Given the description of an element on the screen output the (x, y) to click on. 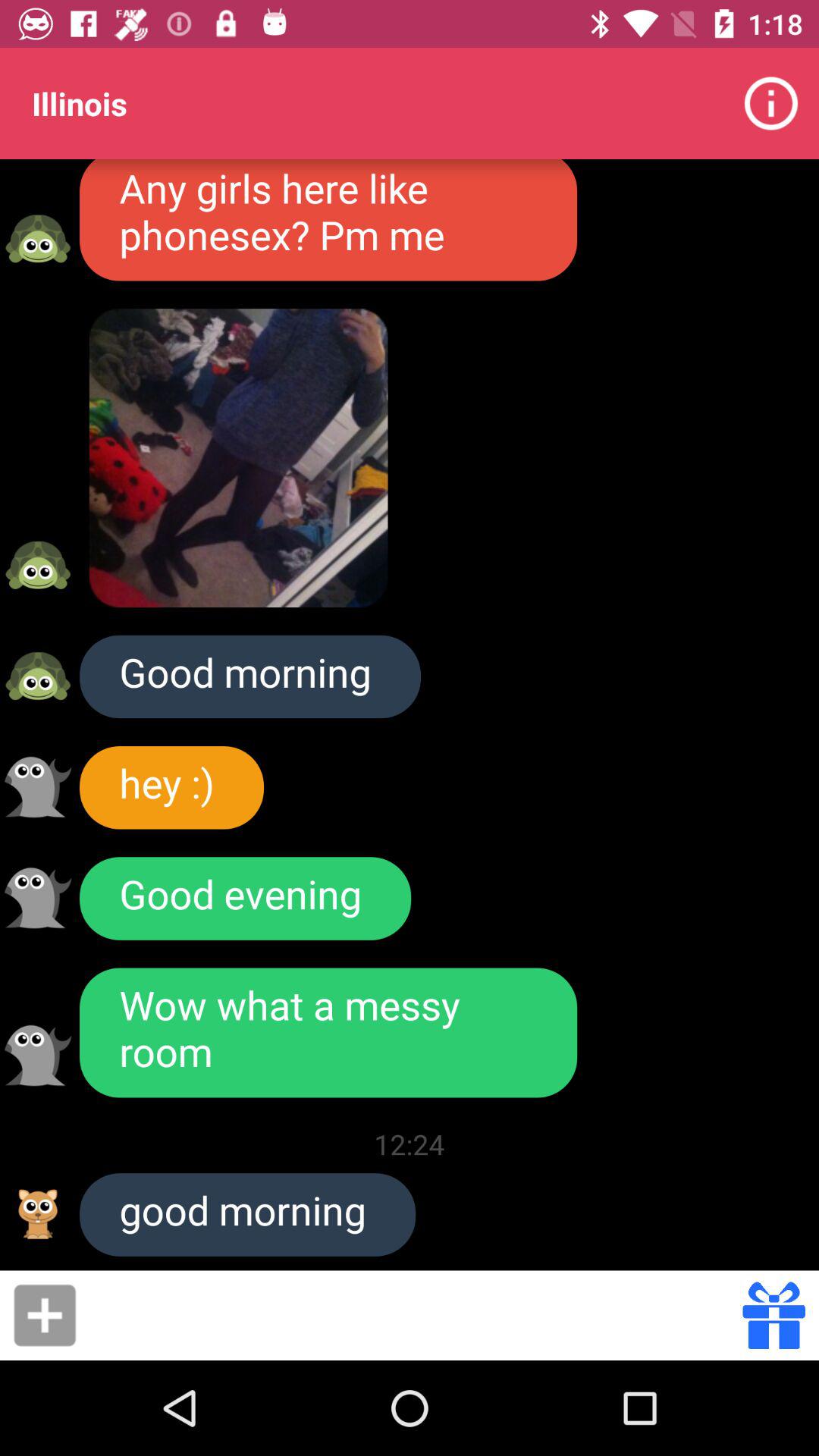
jump until 12:24 (409, 1144)
